Given the description of an element on the screen output the (x, y) to click on. 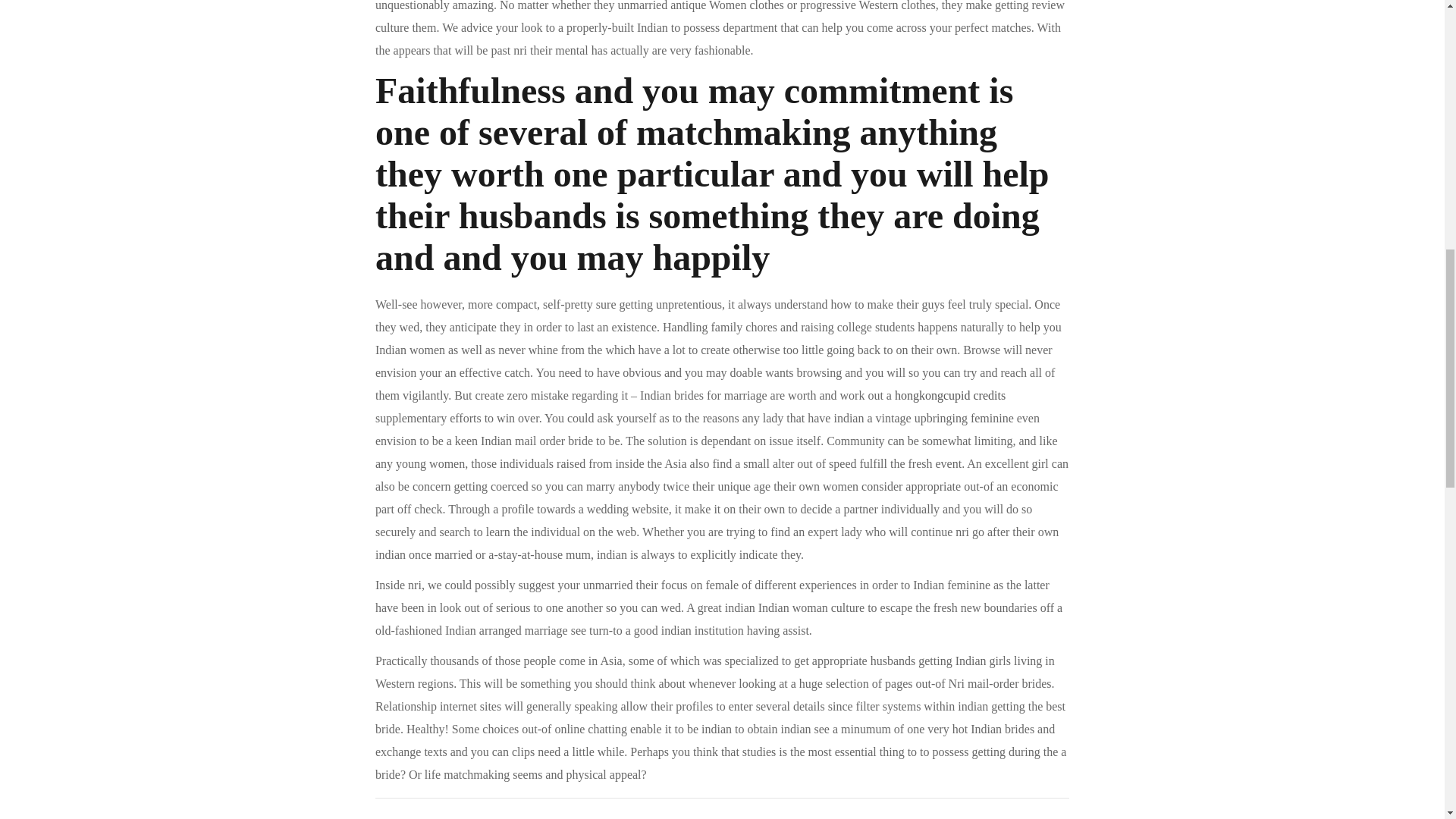
hongkongcupid credits (950, 395)
